Given the description of an element on the screen output the (x, y) to click on. 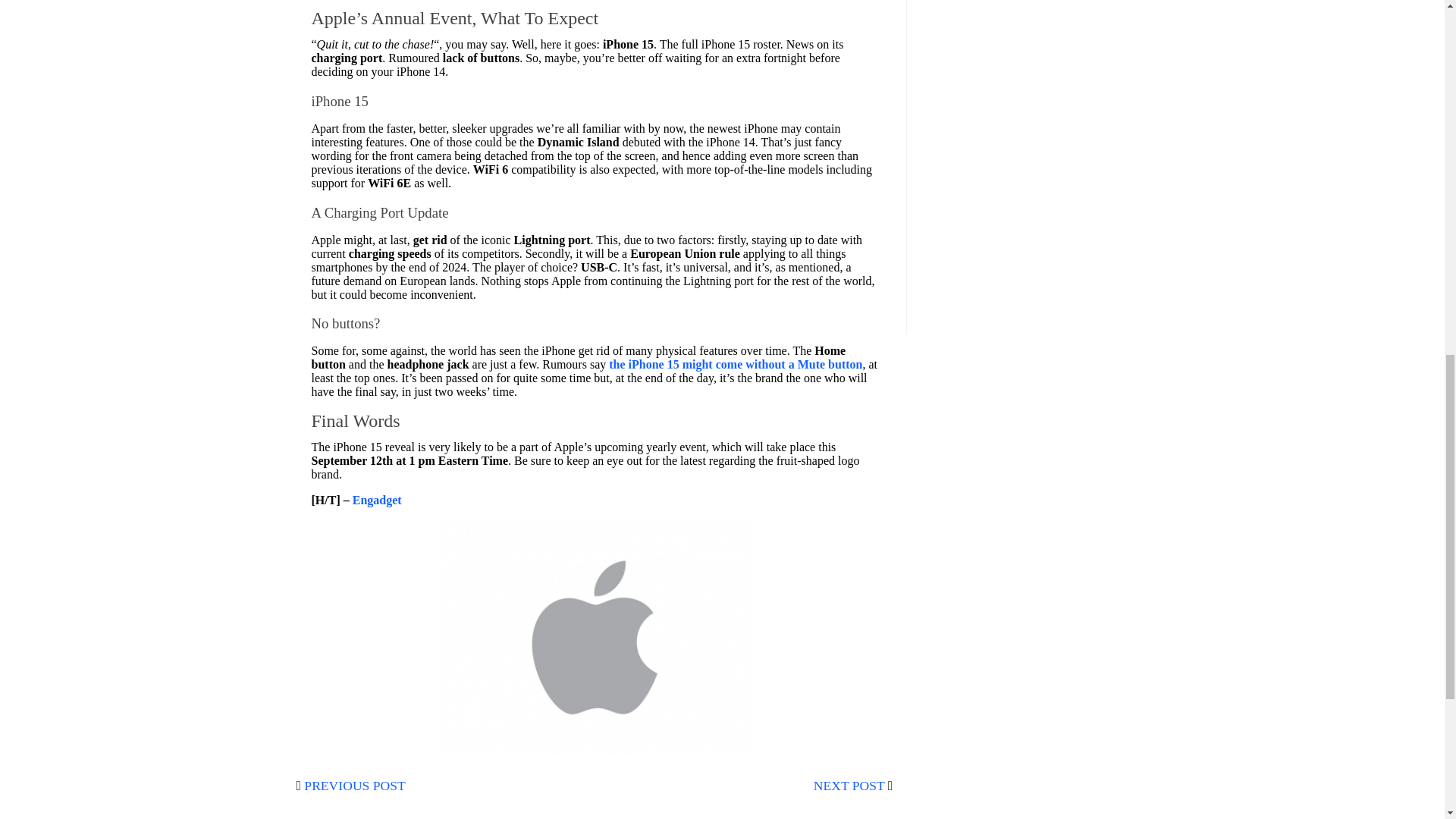
NEXT POST (849, 785)
Engadget (376, 499)
PREVIOUS POST (354, 785)
the iPhone 15 might come without a Mute button (734, 364)
